Given the description of an element on the screen output the (x, y) to click on. 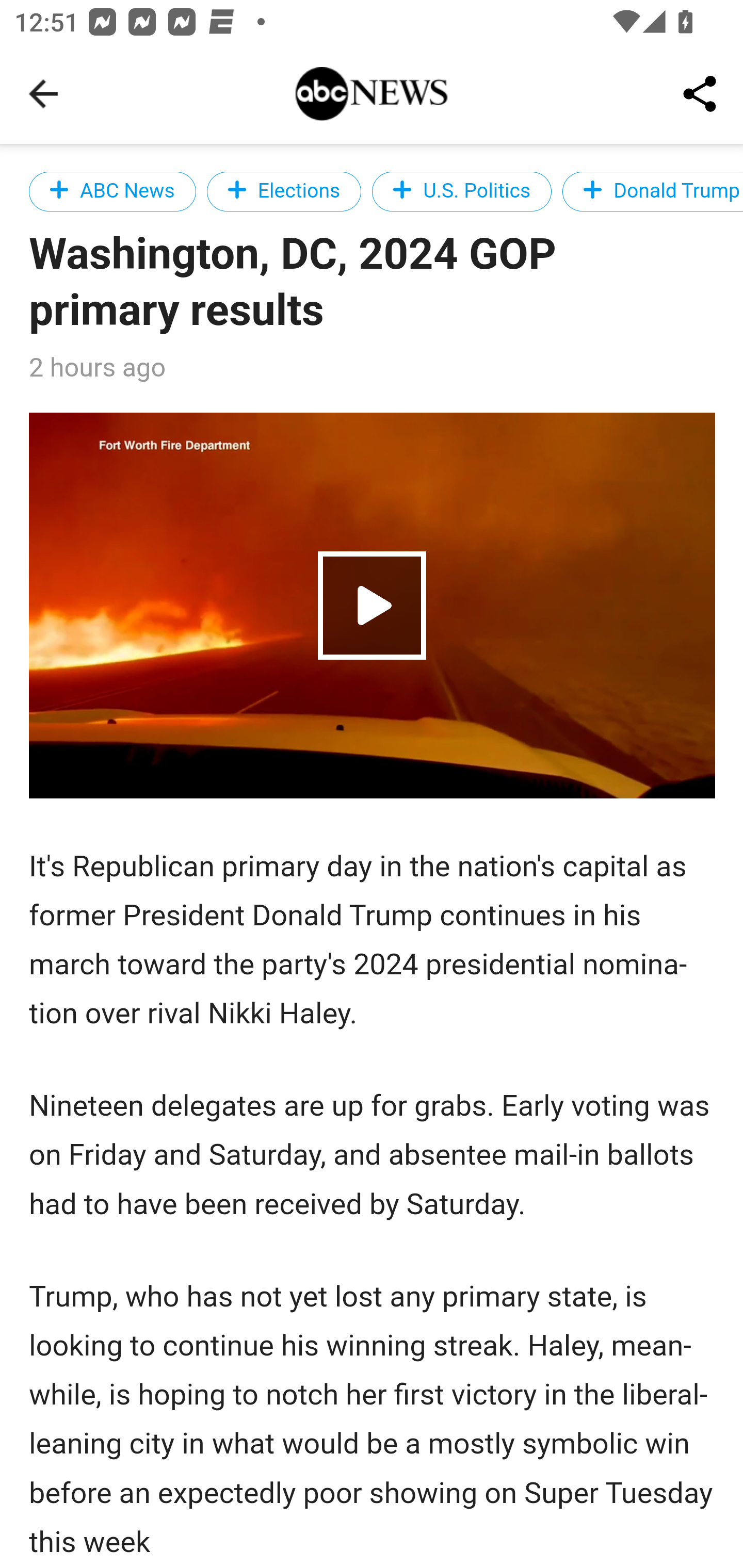
ABC News (112, 191)
Elections (283, 191)
U.S. Politics (462, 191)
Donald Trump (652, 191)
Play Video (372, 604)
